Given the description of an element on the screen output the (x, y) to click on. 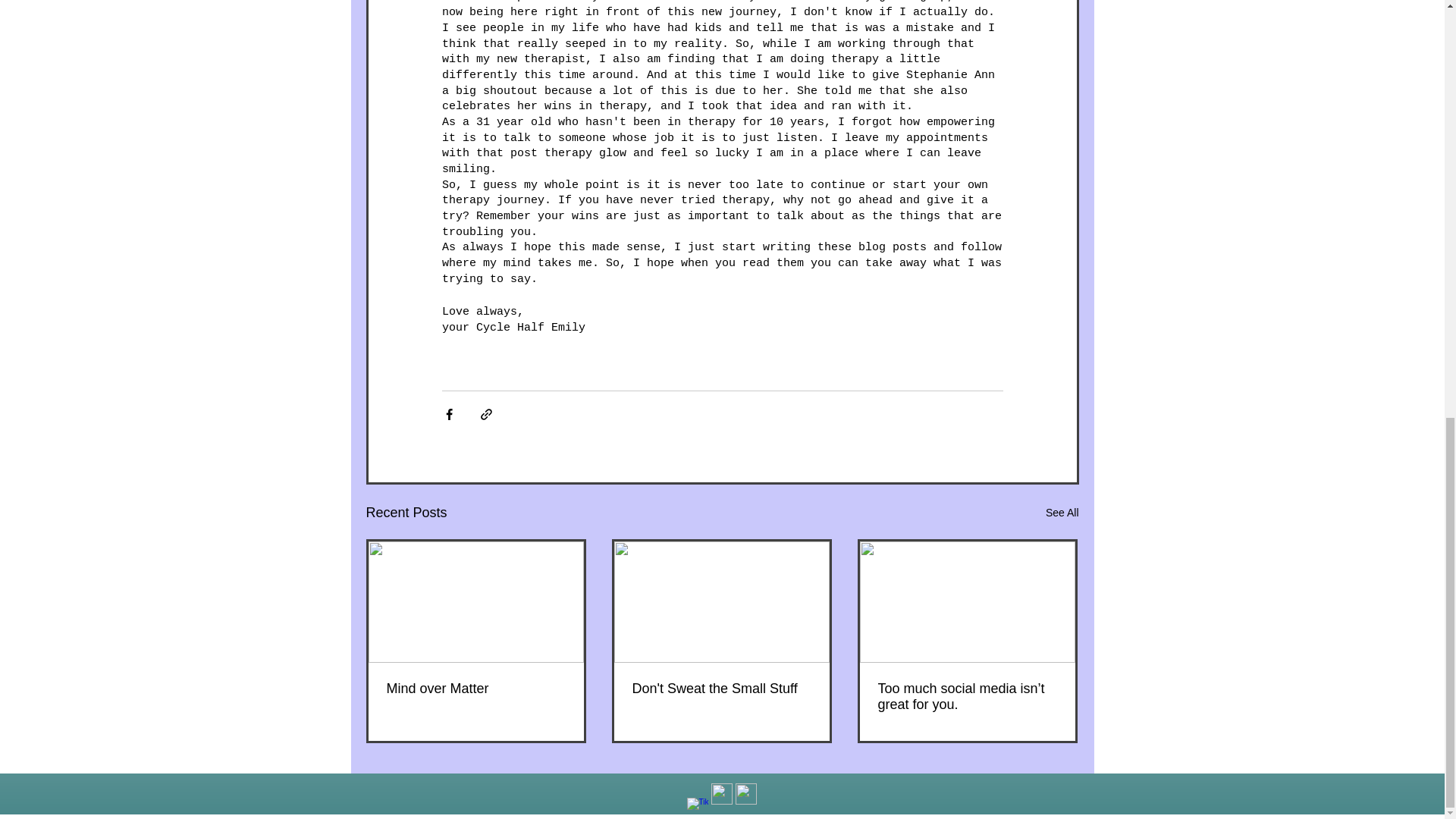
Mind over Matter (476, 688)
See All (1061, 513)
Don't Sweat the Small Stuff (720, 688)
